Given the description of an element on the screen output the (x, y) to click on. 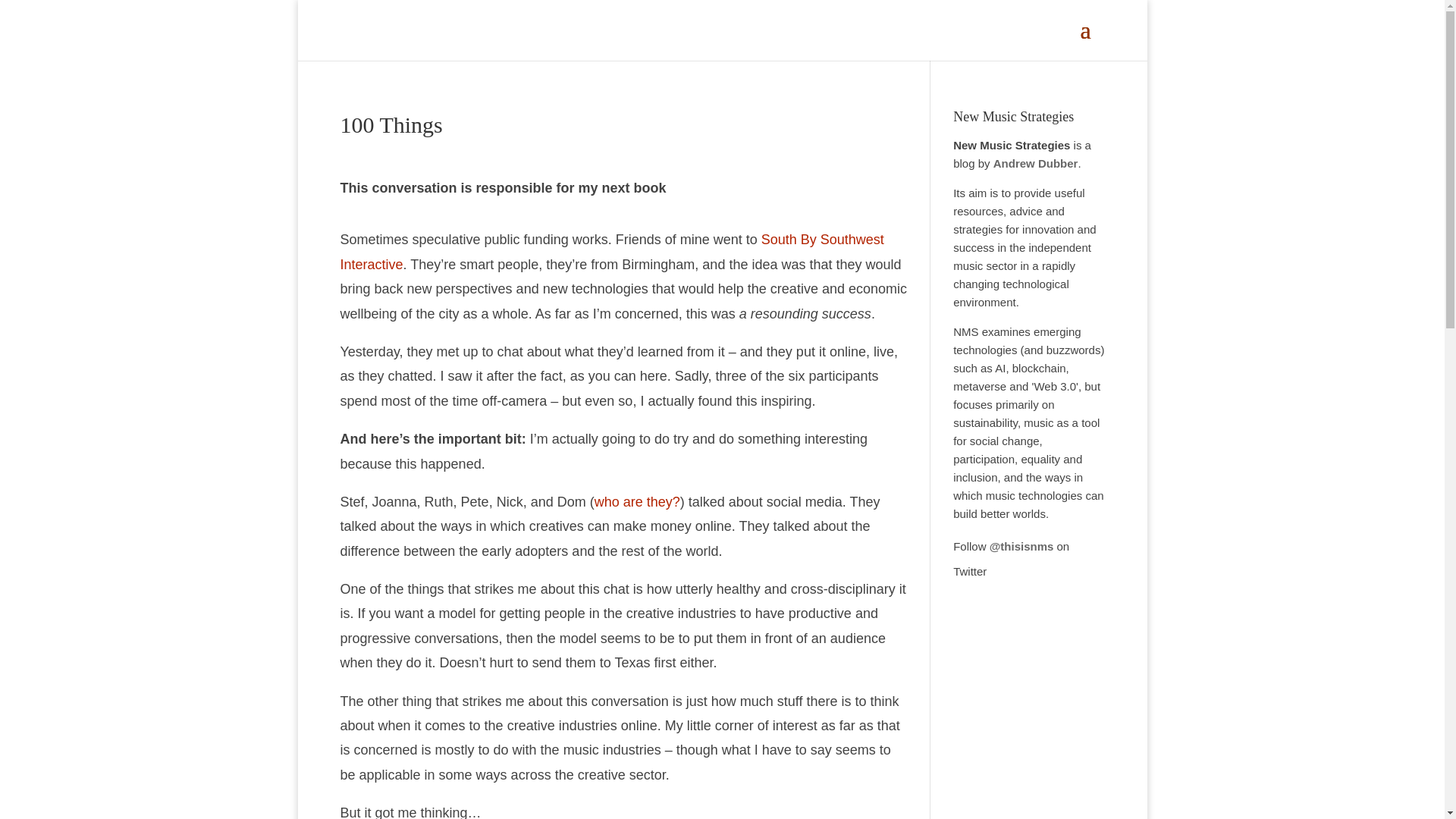
who are they? (636, 501)
South By Southwest Interactive (611, 251)
Andrew Dubber (1035, 163)
